Given the description of an element on the screen output the (x, y) to click on. 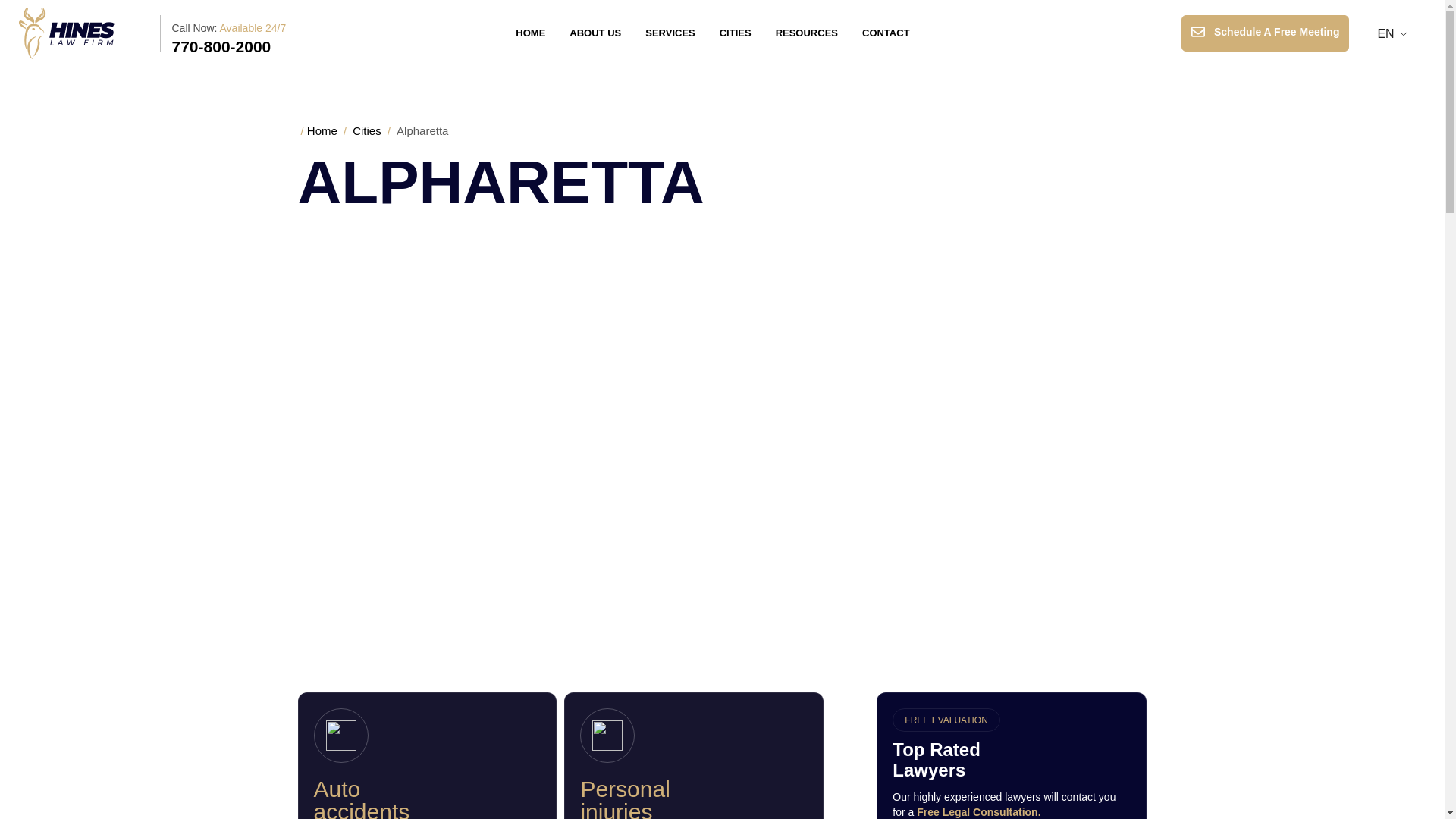
HOME (530, 32)
RESOURCES (806, 32)
ABOUT US (595, 32)
CITIES (734, 32)
Schedule A Free Meeting (1264, 33)
Breadcrumb link to Cities (366, 130)
Breadcrumb link to Home (322, 130)
770-800-2000 (220, 46)
CONTACT (885, 32)
EN (1385, 33)
English (1385, 33)
SERVICES (670, 32)
